Given the description of an element on the screen output the (x, y) to click on. 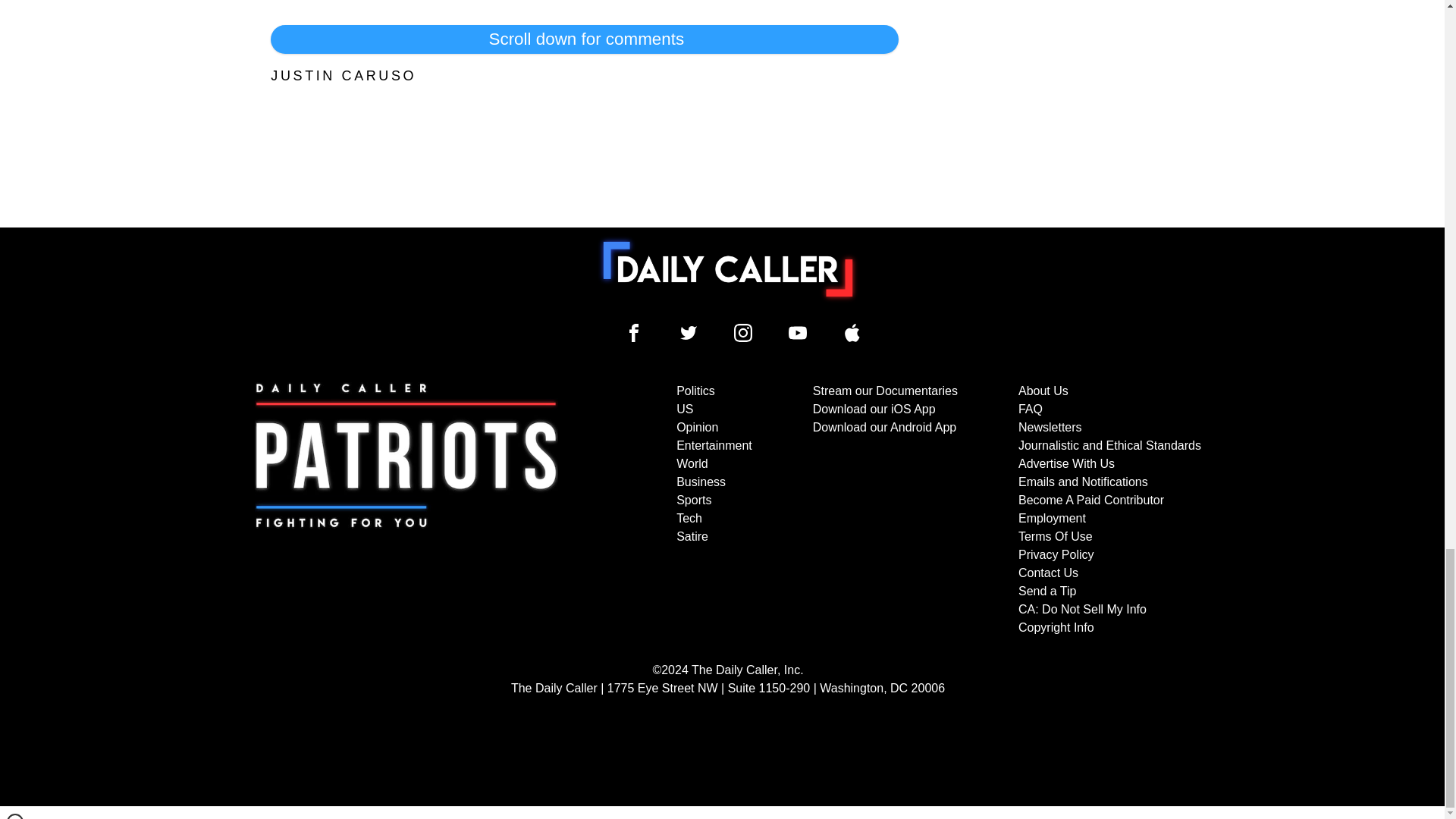
Scroll down for comments (584, 39)
Daily Caller YouTube (797, 332)
Subscribe to The Daily Caller (405, 509)
Daily Caller Facebook (633, 332)
Daily Caller Twitter (688, 332)
Daily Caller Instagram (742, 332)
Daily Caller YouTube (852, 332)
To home page (727, 268)
